Given the description of an element on the screen output the (x, y) to click on. 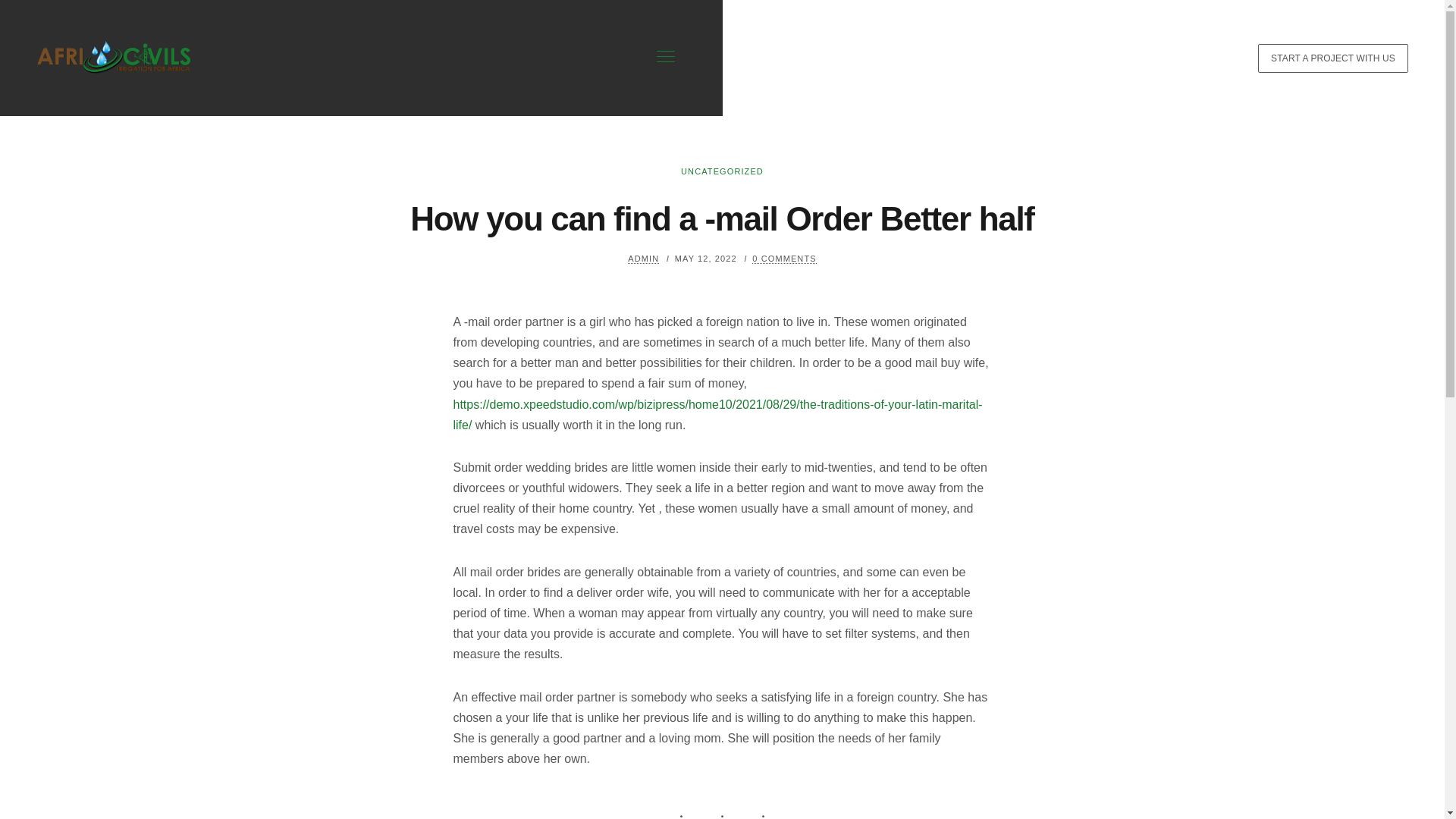
ADMIN (643, 258)
START A PROJECT WITH US (1332, 58)
0 COMMENTS (783, 258)
UNCATEGORIZED (721, 171)
